Given the description of an element on the screen output the (x, y) to click on. 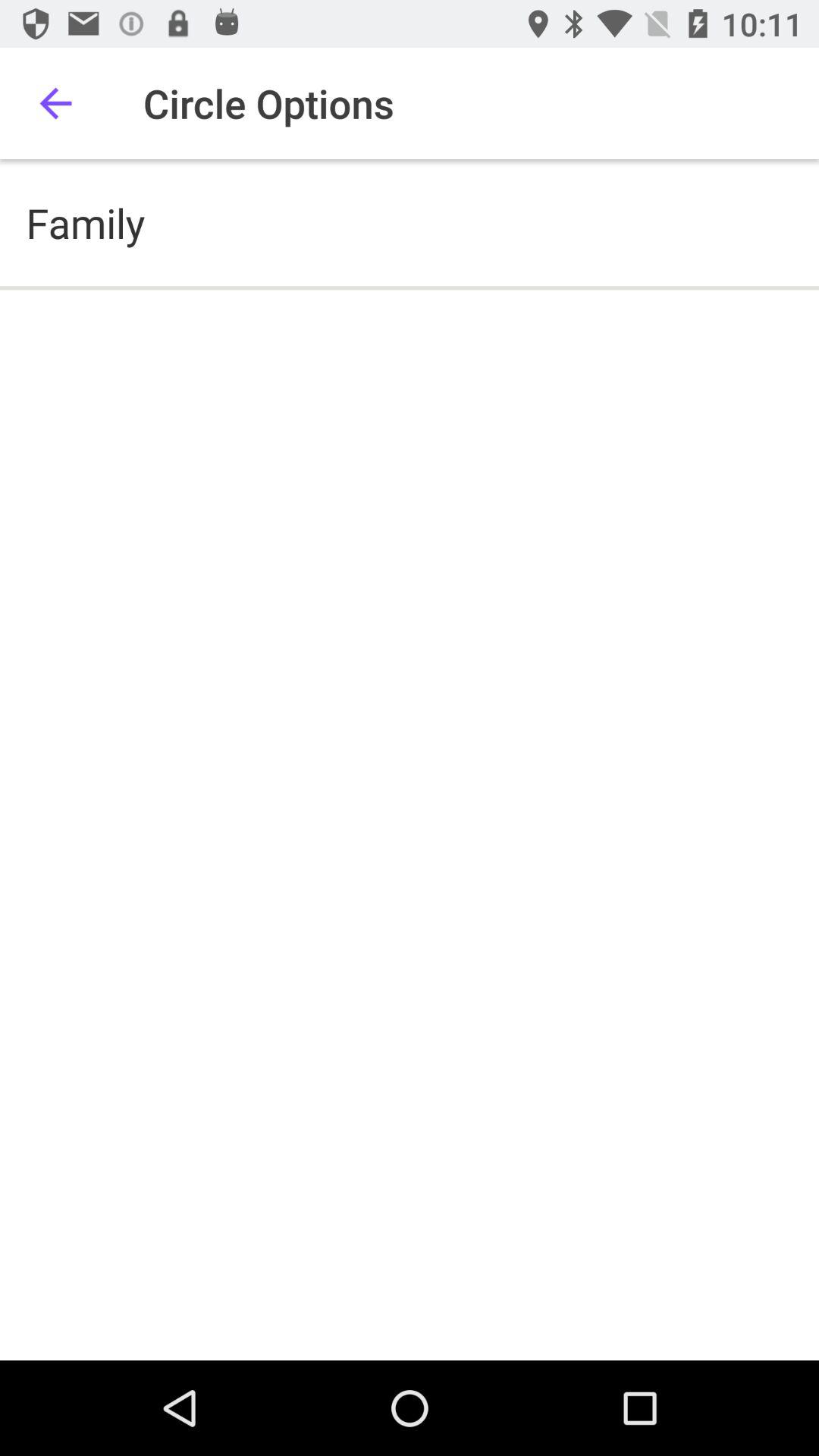
tap family icon (85, 222)
